Given the description of an element on the screen output the (x, y) to click on. 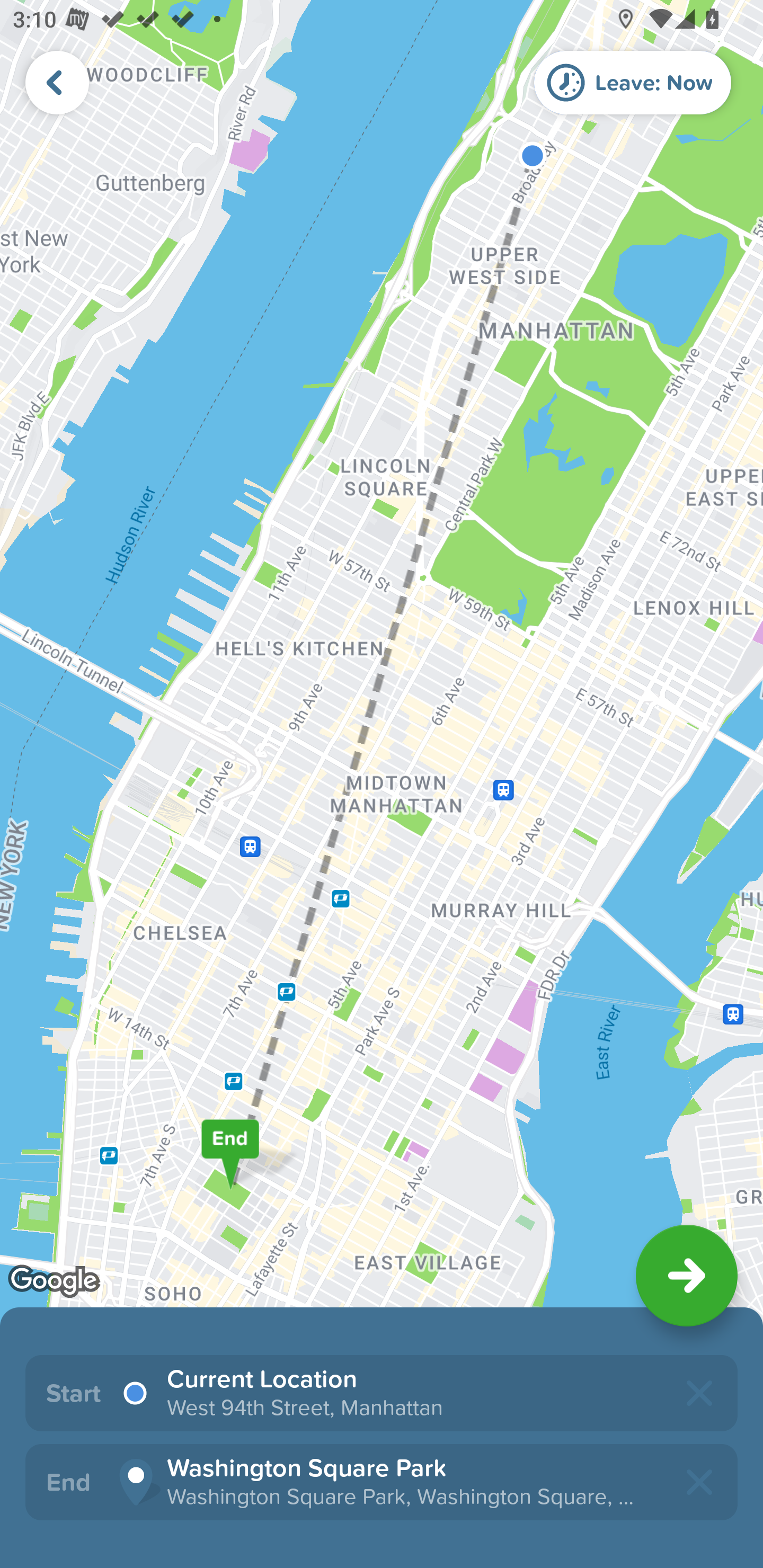
Start Current Location West 94th Street, Manhattan (381, 1392)
